Given the description of an element on the screen output the (x, y) to click on. 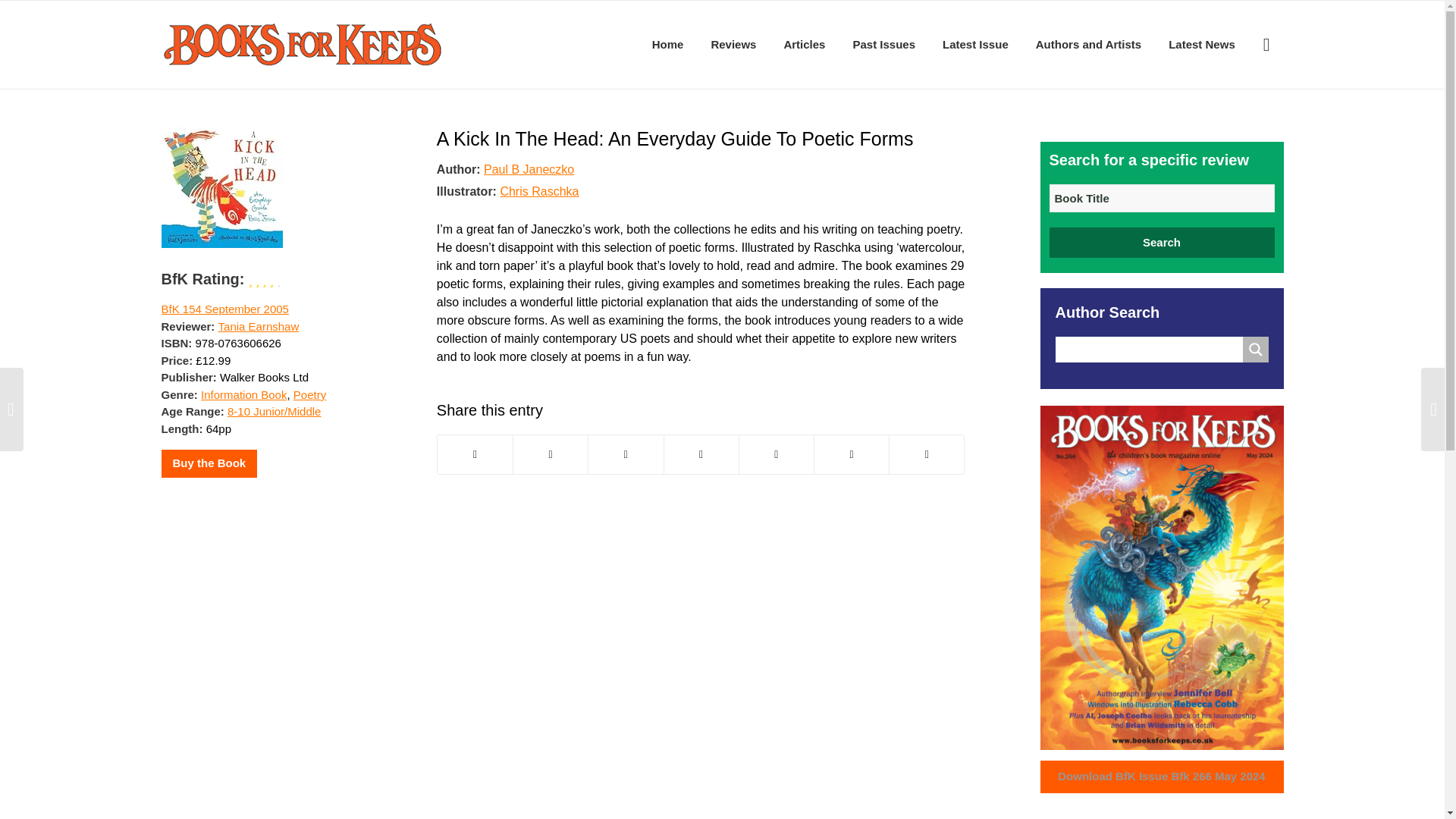
BfK 154 September 2005 (224, 308)
Latest Issue (975, 44)
Latest News (1201, 44)
Paul B Janeczko (528, 168)
Authors and Artists (1088, 44)
Chris Raschka (538, 191)
Information Book (243, 394)
Poetry (310, 394)
Search (1162, 242)
Search (1162, 242)
Download BfK Issue Bfk 266 May 2024 (1162, 776)
Buy the Book (208, 463)
Past Issues (883, 44)
A Kick In The Head: An Everyday Guide To Poetic Forms (675, 138)
